Given the description of an element on the screen output the (x, y) to click on. 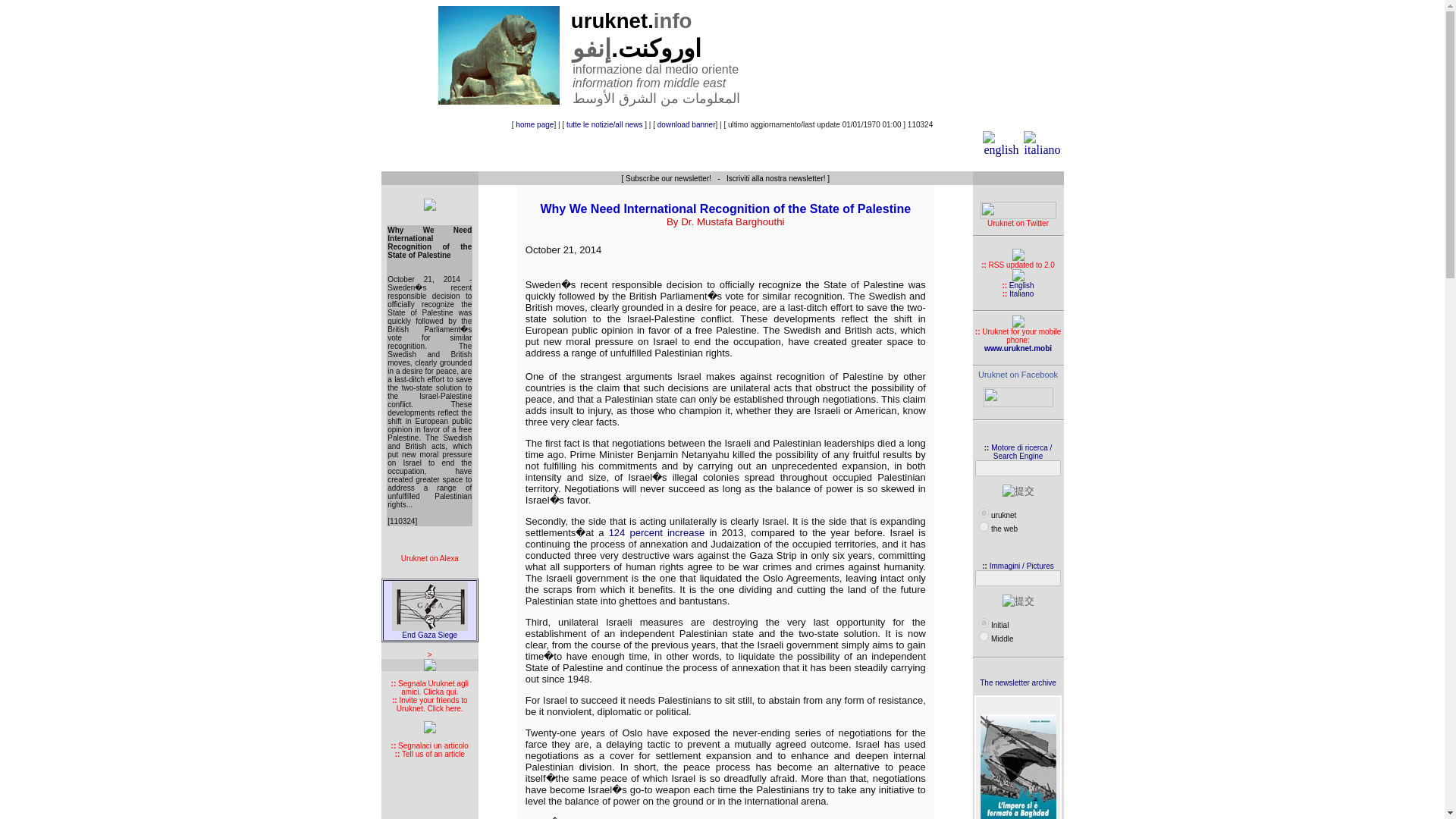
g (983, 526)
Uruknet on Facebook (1018, 374)
The Lyon of Babylon (498, 54)
u (983, 512)
English (1021, 285)
UrukNet.info (1018, 374)
The newsletter archive (1018, 682)
M (983, 636)
Italiano (1021, 293)
I (983, 623)
End Gaza Siege (429, 631)
124 percent increase (656, 532)
UrukNet,info also on Facebook (1018, 404)
